Given the description of an element on the screen output the (x, y) to click on. 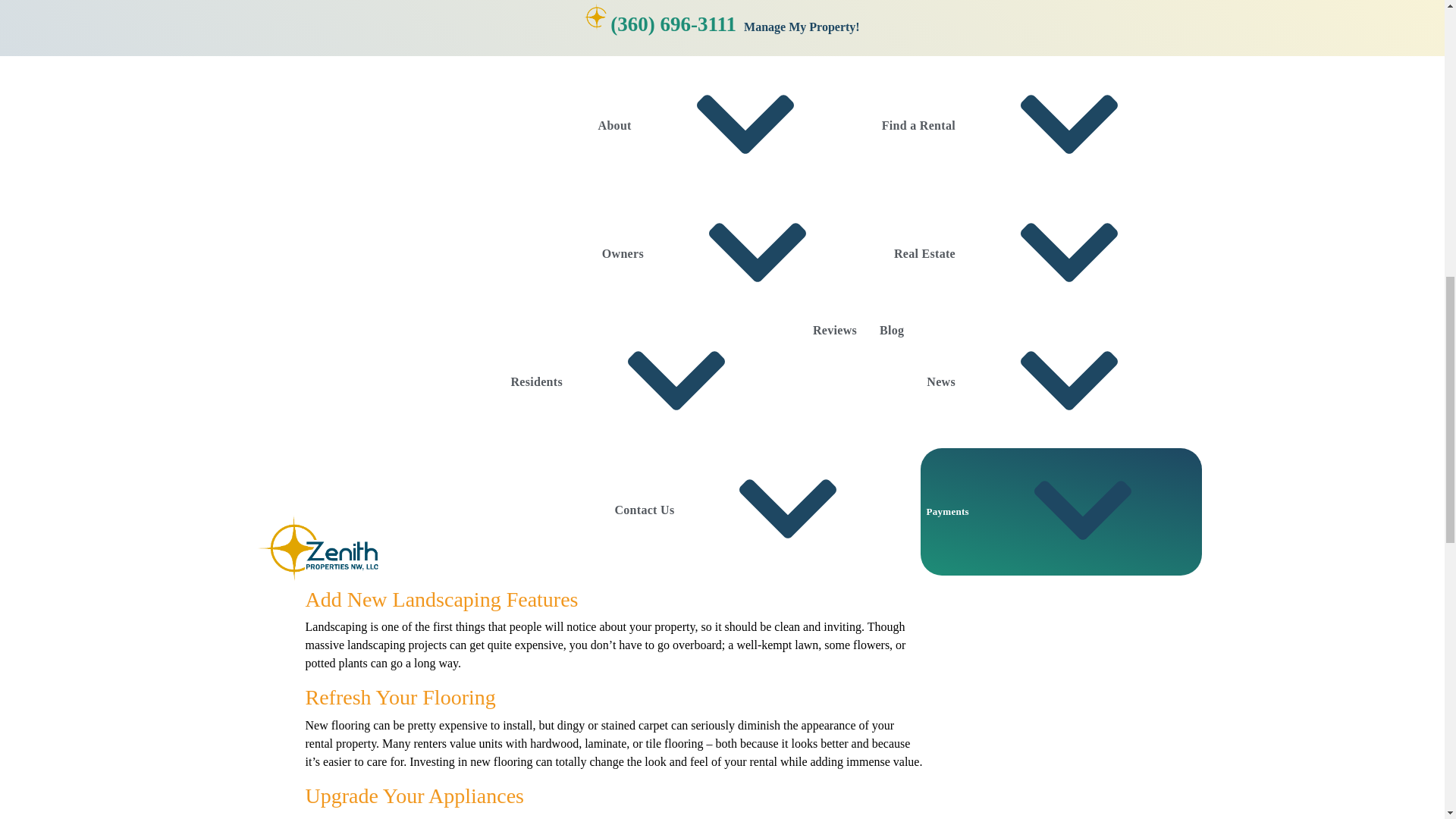
Submit (1044, 290)
Real Estate Inquiry (975, 140)
1 (1046, 266)
